Given the description of an element on the screen output the (x, y) to click on. 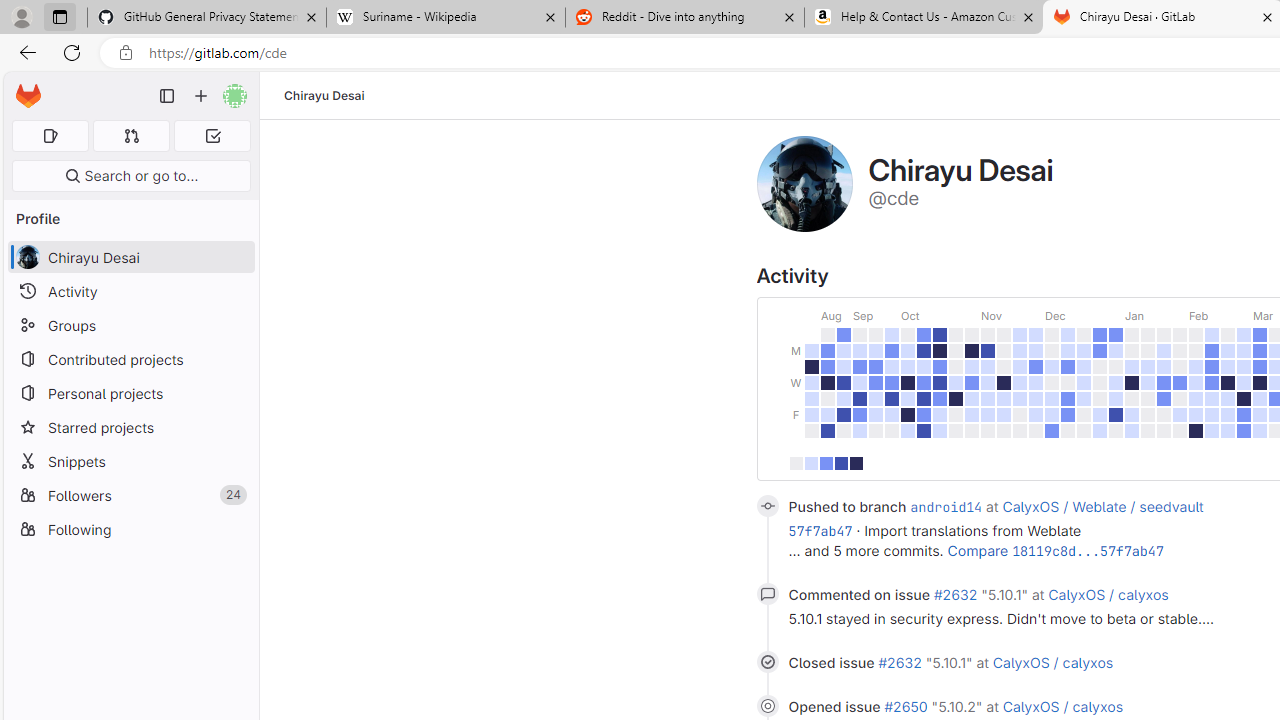
avatar (27, 257)
